Given the description of an element on the screen output the (x, y) to click on. 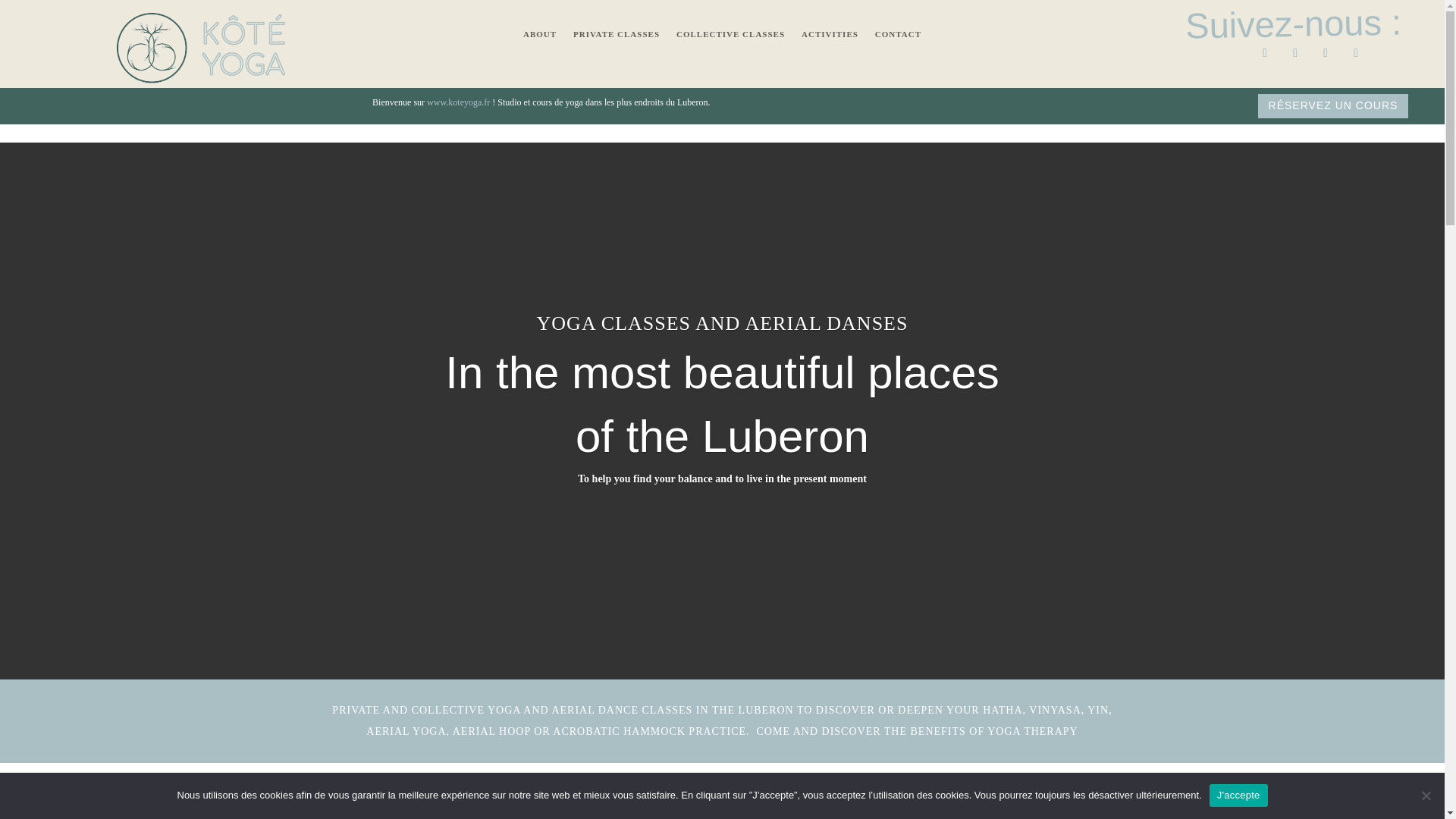
COLLECTIVE CLASSES (730, 36)
Follow on Youtube (1325, 52)
ABOUT (539, 36)
Follow on Instagram (1294, 52)
ACTIVITIES (830, 36)
www.koteyoga.fr (459, 102)
PRIVATE CLASSES (616, 36)
Follow on Pinterest (1355, 52)
CONTACT (898, 36)
Follow on Facebook (1264, 52)
